Given the description of an element on the screen output the (x, y) to click on. 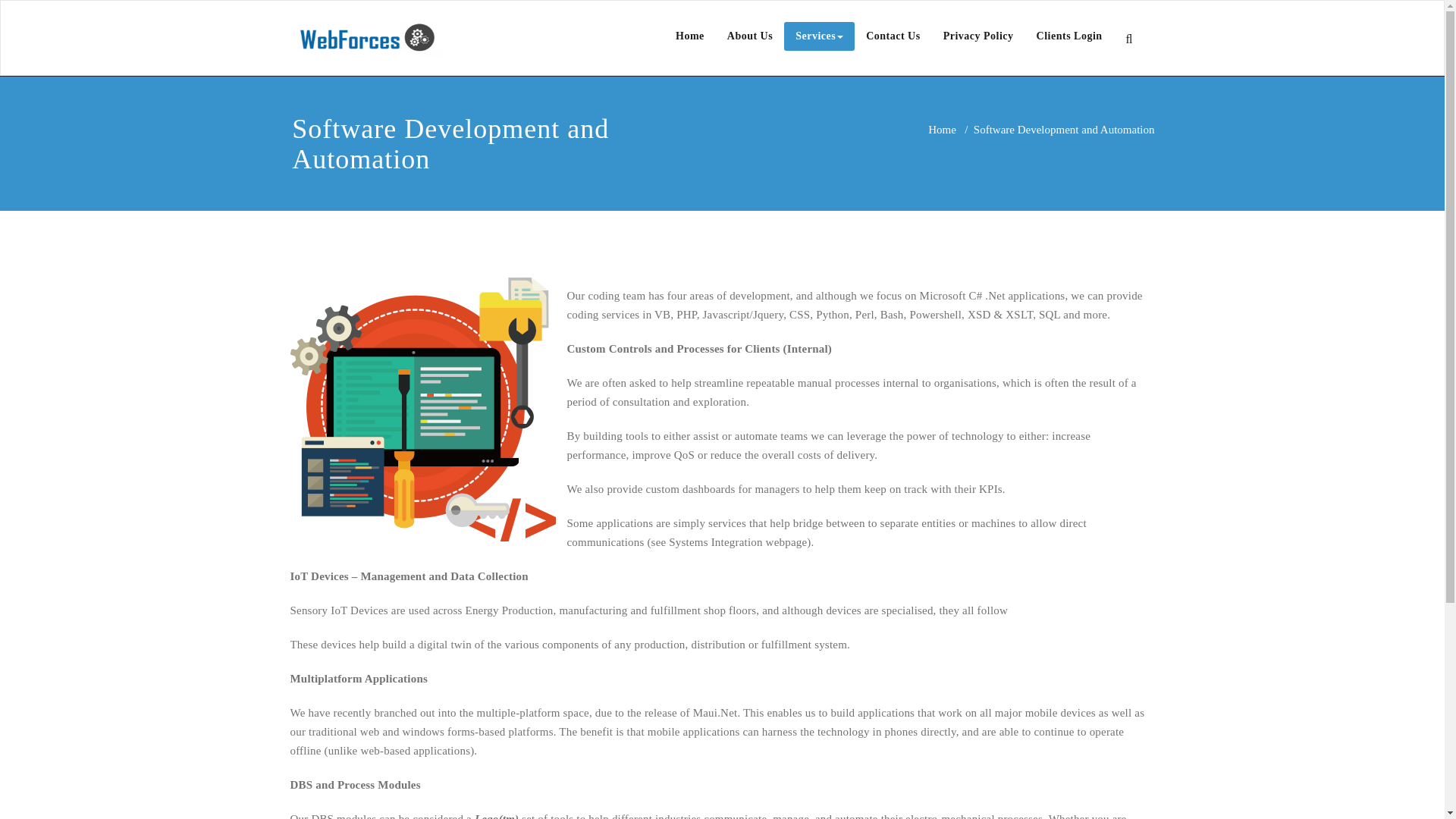
Services (819, 36)
Home (942, 129)
About Us (750, 36)
Clients Login (1069, 36)
Home (689, 36)
Privacy Policy (978, 36)
Contact Us (892, 36)
